Given the description of an element on the screen output the (x, y) to click on. 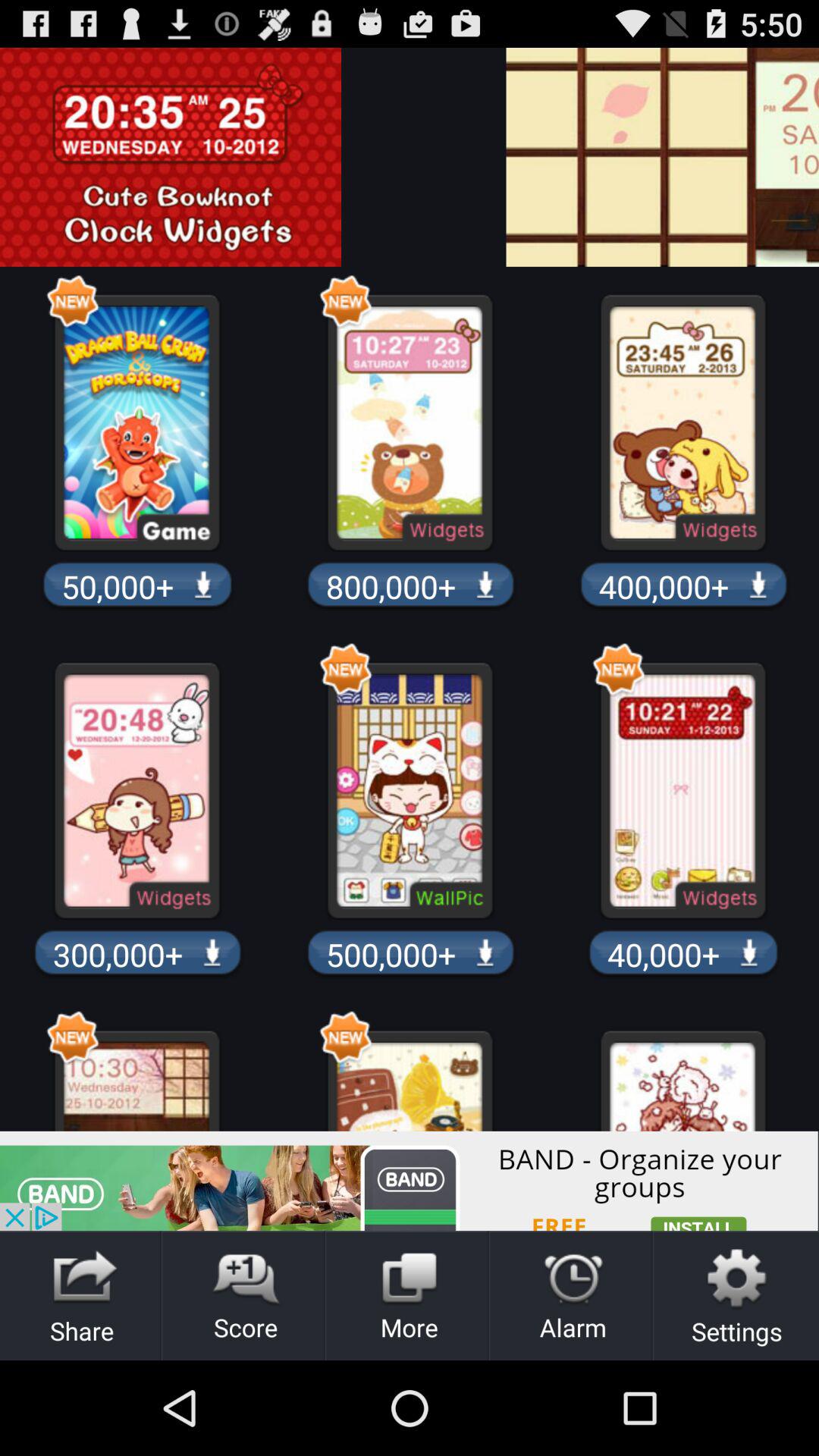
advertising (808, 156)
